Given the description of an element on the screen output the (x, y) to click on. 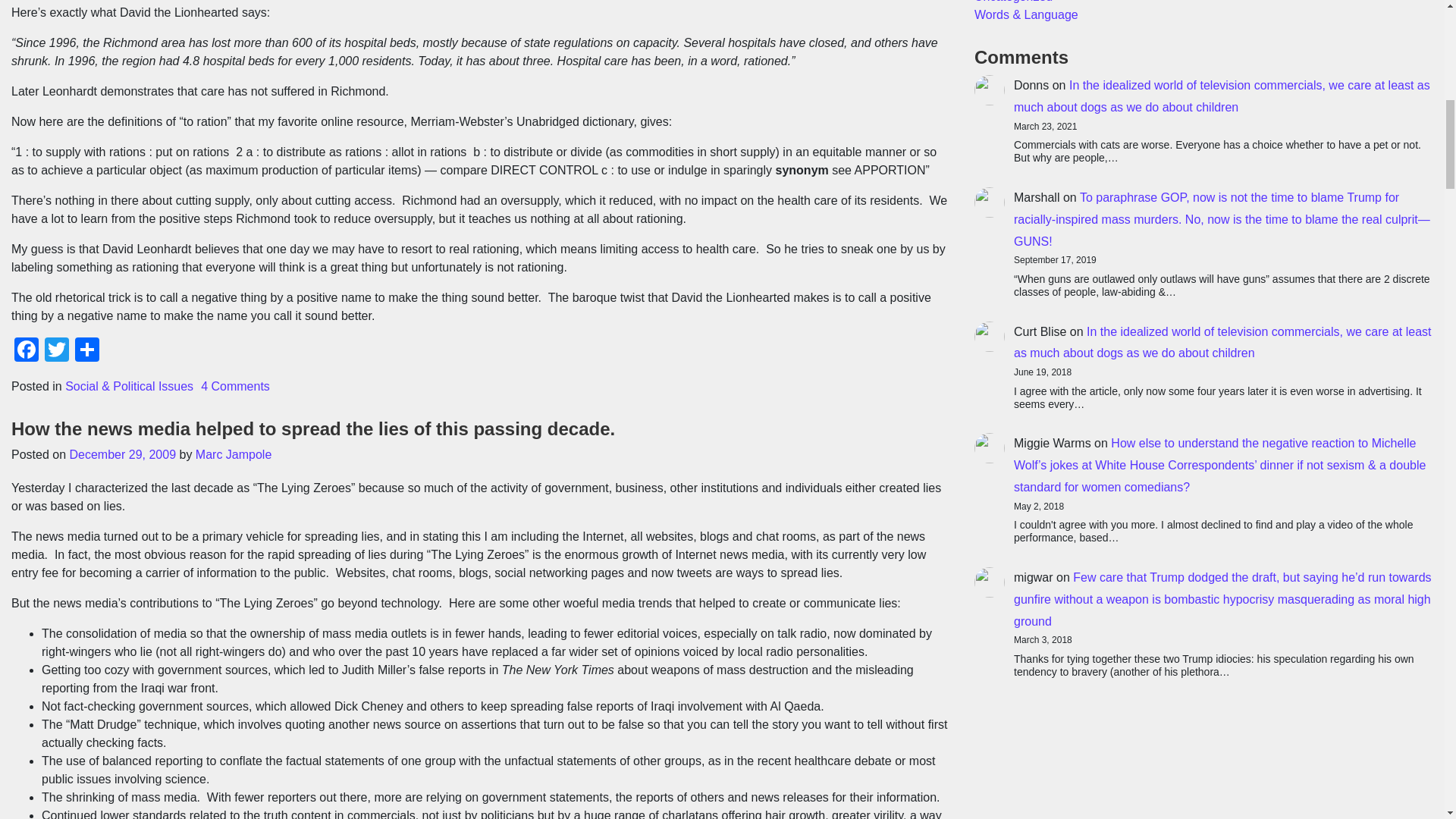
Marc Jampole (232, 454)
Facebook (26, 351)
Facebook (26, 351)
December 29, 2009 (122, 454)
Twitter (56, 351)
Twitter (56, 351)
